Given the description of an element on the screen output the (x, y) to click on. 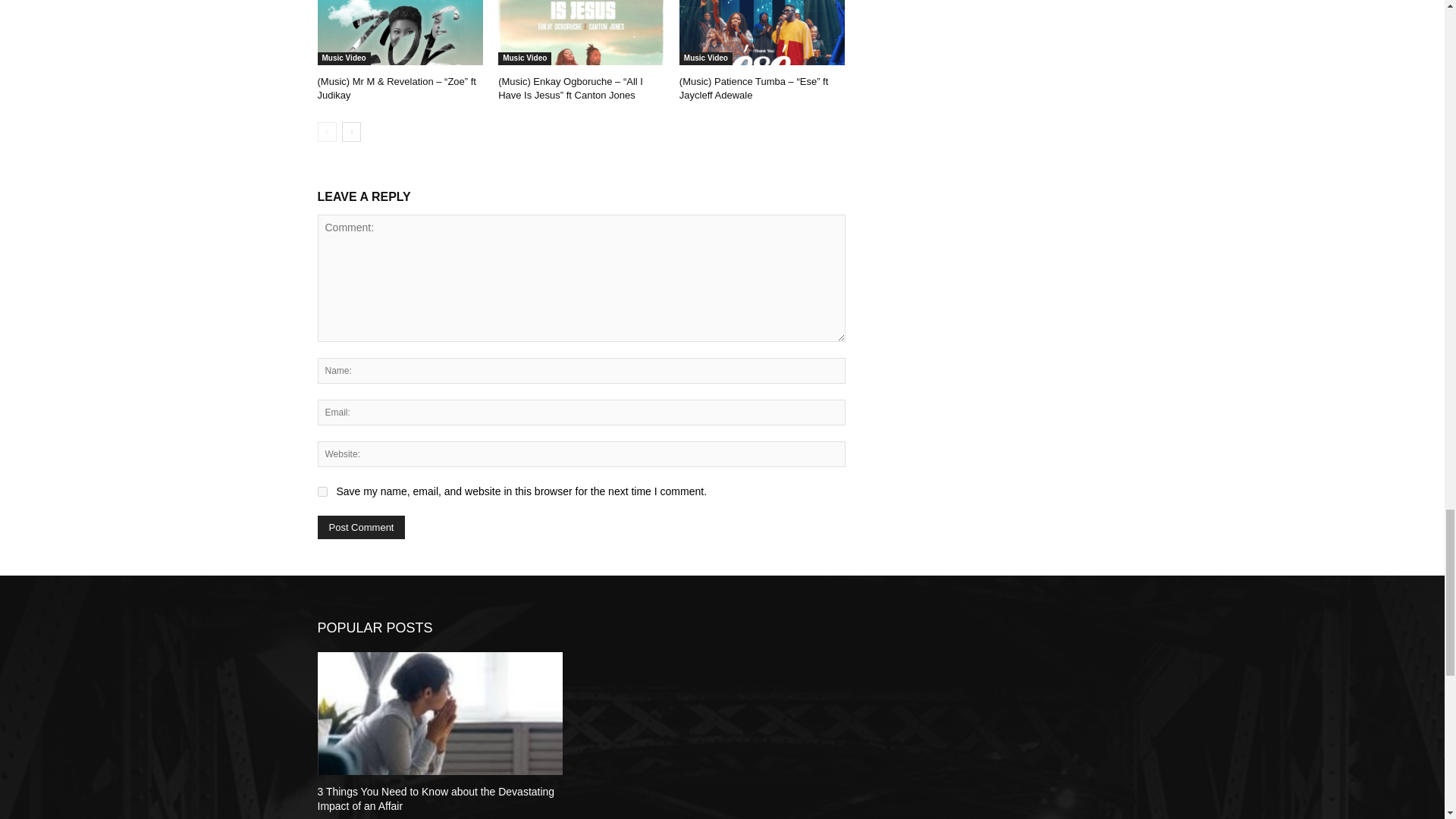
yes (321, 491)
Post Comment (360, 526)
